Given the description of an element on the screen output the (x, y) to click on. 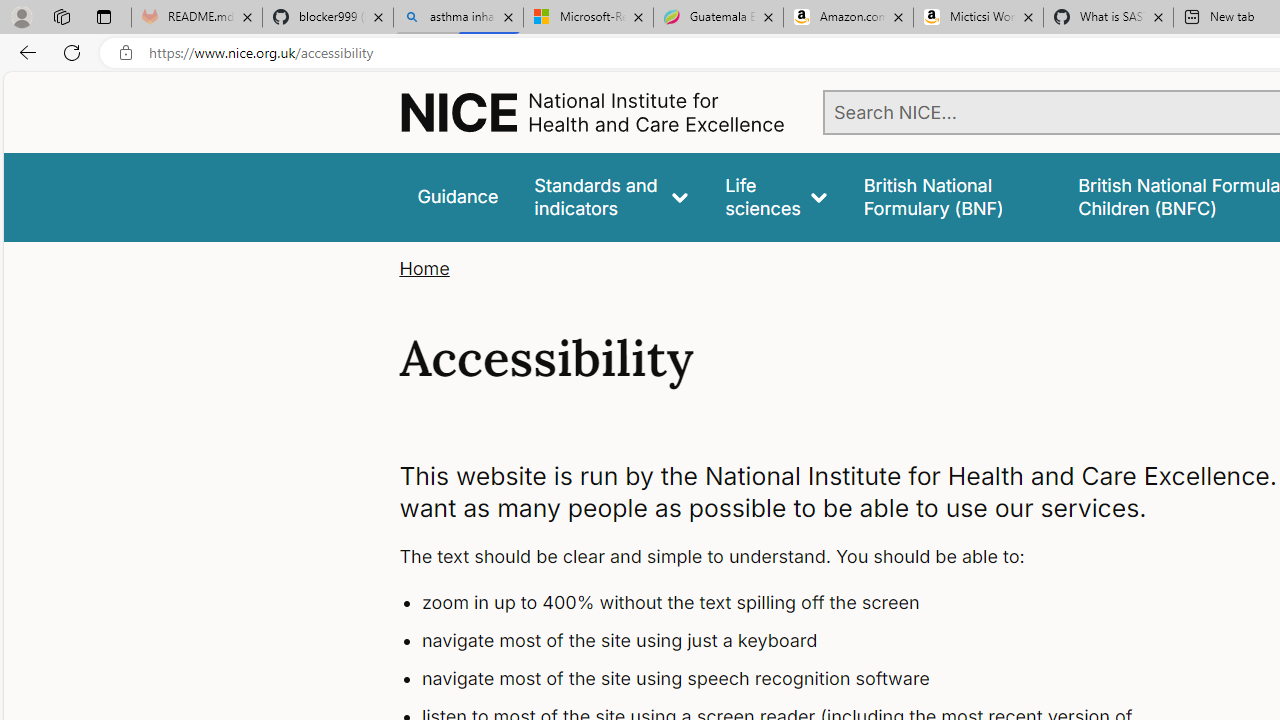
Life sciences (776, 196)
Guidance (458, 196)
asthma inhaler - Search (458, 17)
false (952, 196)
zoom in up to 400% without the text spilling off the screen (796, 603)
navigate most of the site using speech recognition software (796, 678)
